Given the description of an element on the screen output the (x, y) to click on. 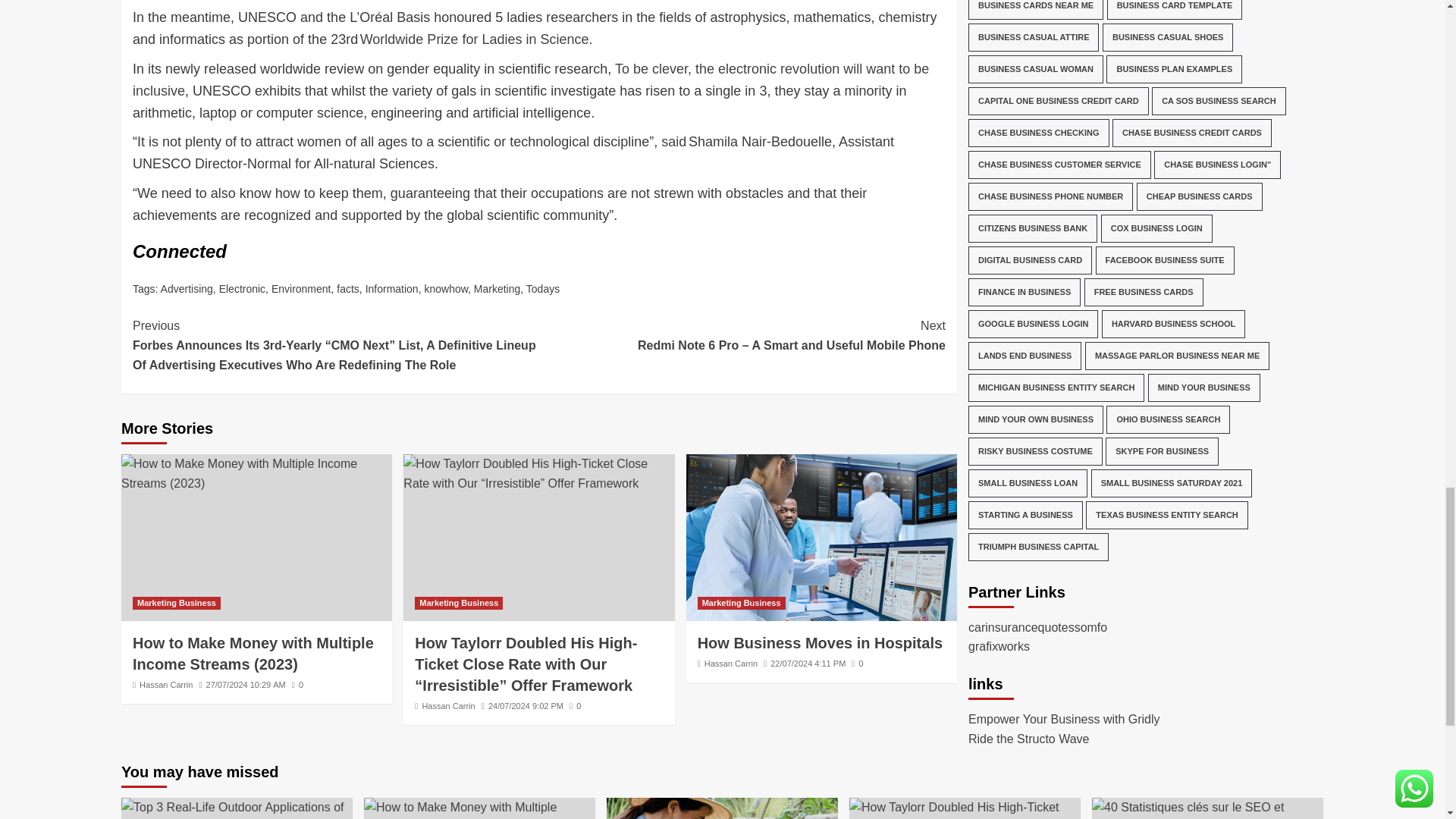
Environment (300, 288)
Electronic (241, 288)
facts (347, 288)
said (673, 141)
Top 3 Real-Life Outdoor Applications of PVC Board Signs (236, 808)
Advertising (186, 288)
Information (392, 288)
Worldwide Prize for Ladies in Science (474, 38)
